Given the description of an element on the screen output the (x, y) to click on. 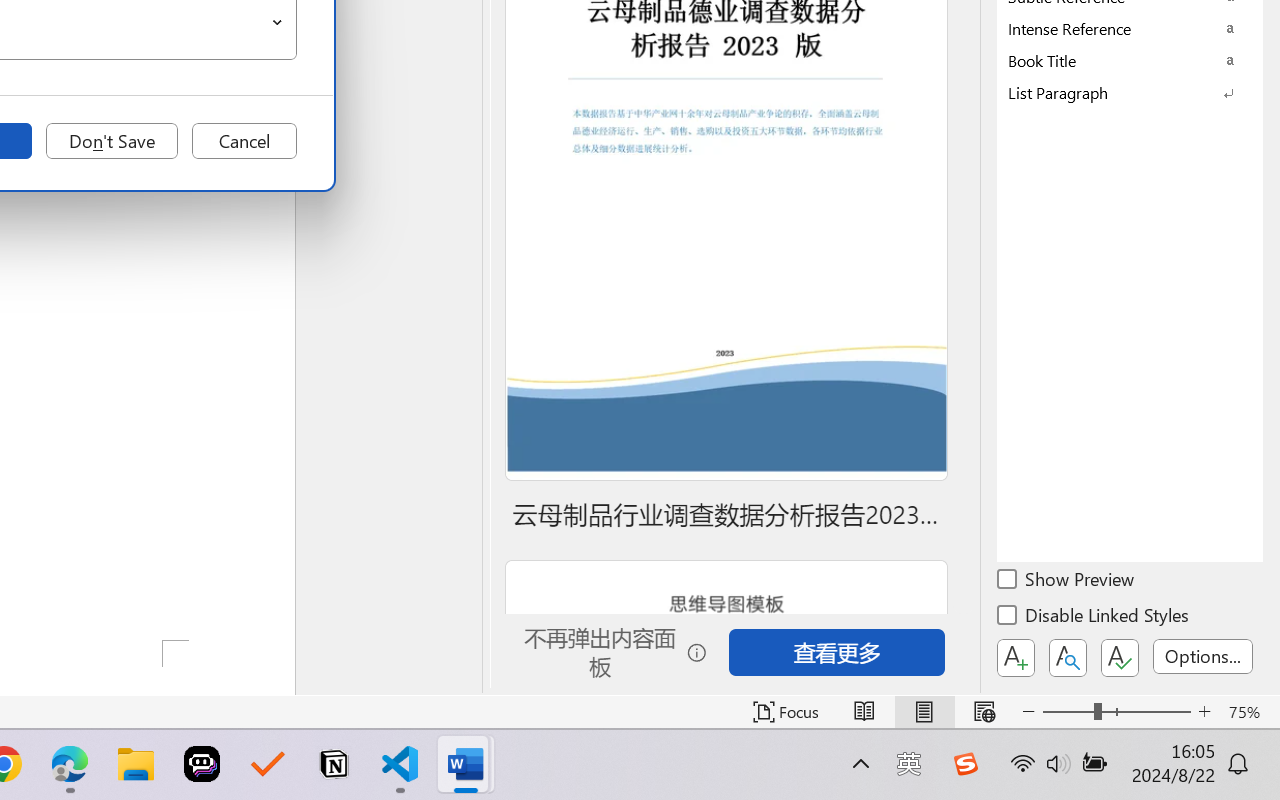
Don't Save (111, 141)
List Paragraph (1130, 92)
Web Layout (984, 712)
